Given the description of an element on the screen output the (x, y) to click on. 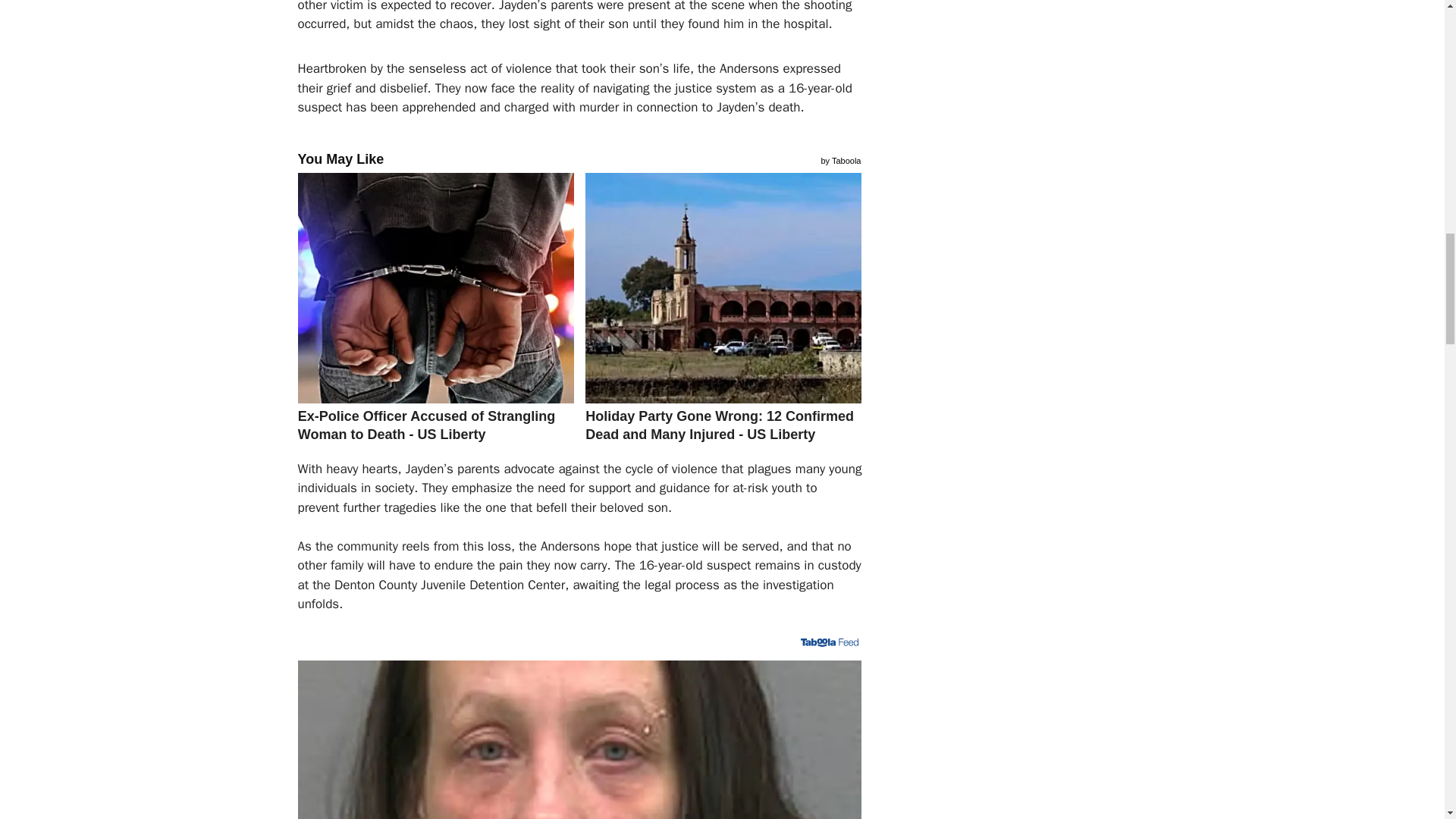
by Taboola (840, 159)
